Given the description of an element on the screen output the (x, y) to click on. 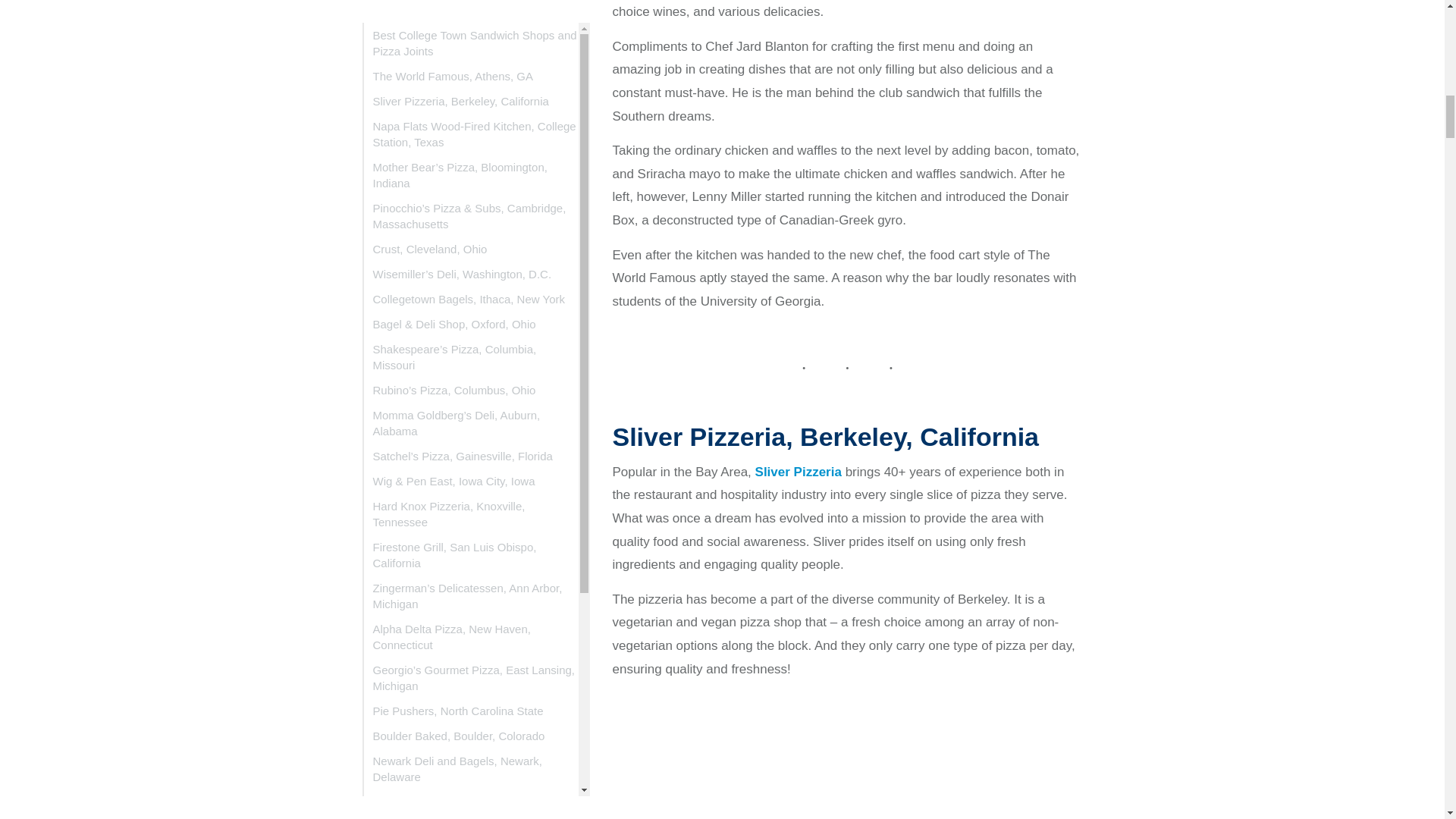
Hogan Brothers, Northfield, Minnesota (475, 227)
Boulder Baked, Boulder, Colorado (475, 161)
Newark Deli and Bagels, Newark, Delaware (475, 194)
Pie Pushers, North Carolina State (475, 136)
Ajax Diner, Oxford, Mississippi (475, 252)
Alpha Delta Pizza, New Haven, Connecticut (475, 62)
RU Hungry, New Brunswick, New Jersey (475, 327)
In Focus: Sliver Pizzeria (814, 755)
